Given the description of an element on the screen output the (x, y) to click on. 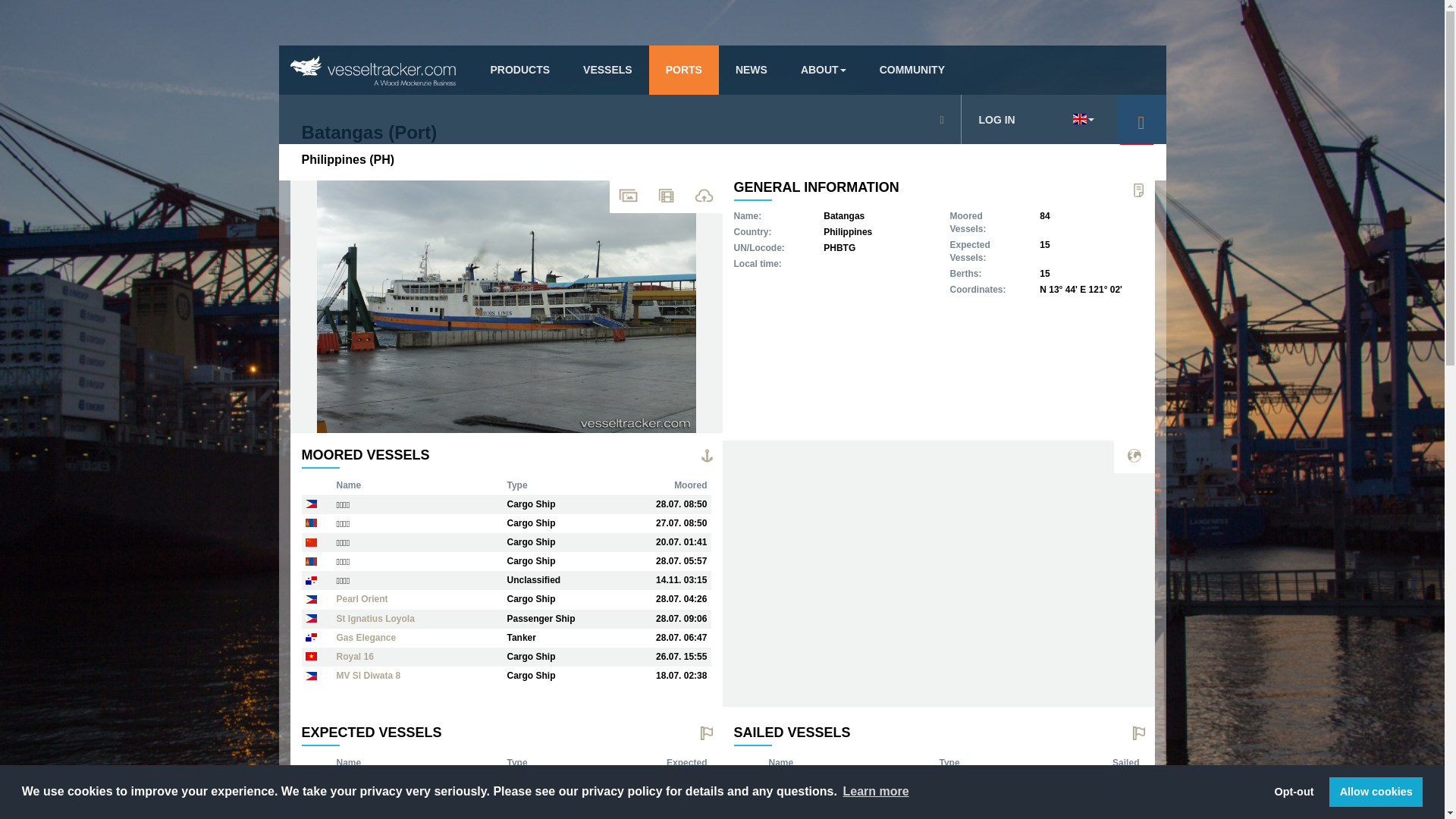
Looking for the Cockpit? (1141, 119)
Mongolia (310, 560)
PORTS (684, 70)
Vietnam (310, 655)
Mongolia (310, 522)
PRODUCTS (516, 70)
China (310, 542)
Philippines (310, 675)
Opt-out (1293, 791)
Panama (310, 637)
St Ignatius Loyola (374, 618)
Expected vessels open in Cockpit (706, 734)
MV Sl Diwata 8 (368, 675)
Pearl Orient (361, 598)
Allow cookies (1375, 791)
